Given the description of an element on the screen output the (x, y) to click on. 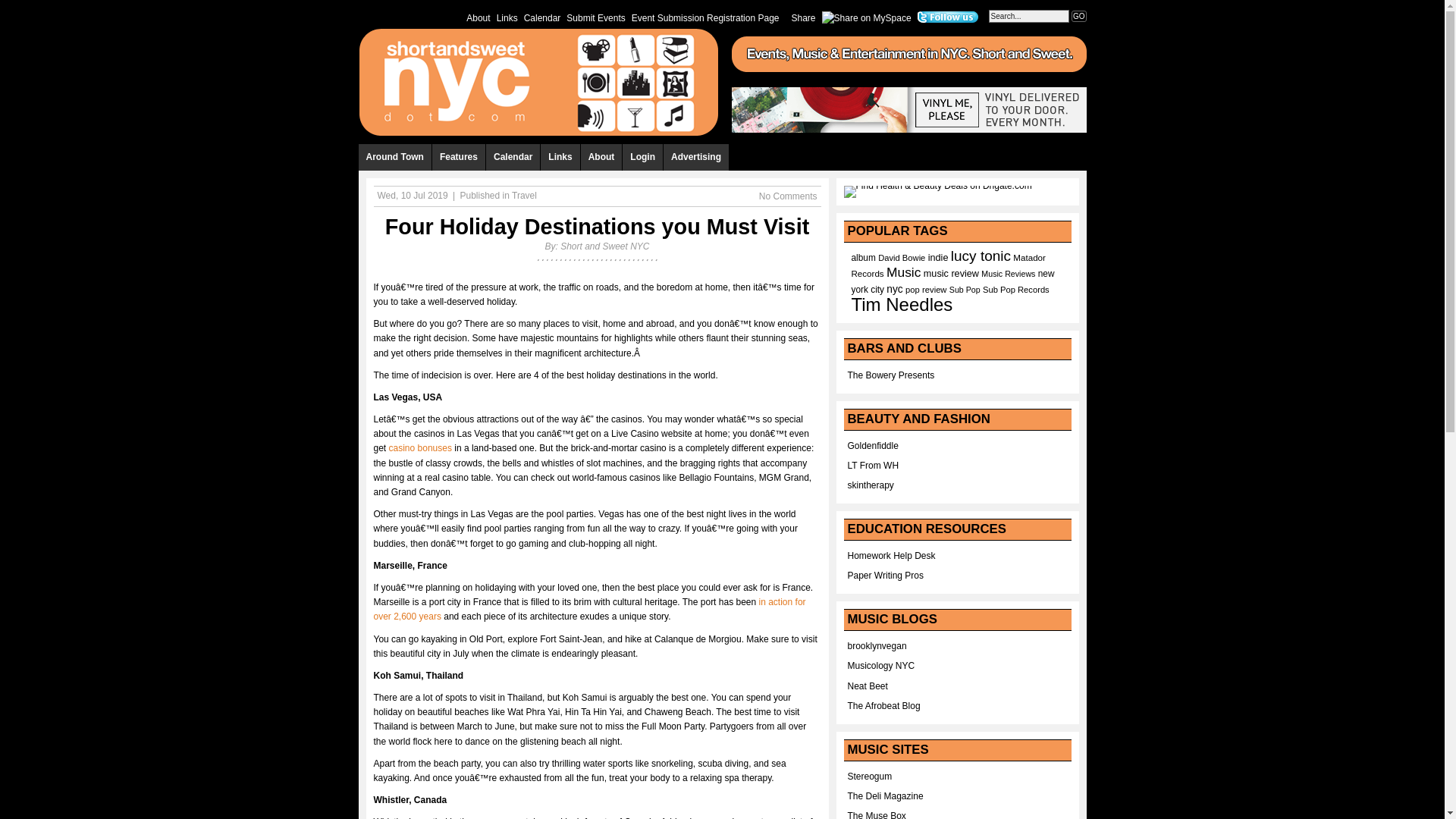
Search... (1028, 15)
GO (1078, 16)
Calendar (542, 17)
About (478, 17)
twitter-icon.com (947, 17)
Comment on Four Holiday Destinations you Must Visit (787, 195)
Event Submission Registration Page (705, 17)
Calendar (513, 157)
View all articles by Short and Sweet NYC (604, 245)
Share (803, 17)
GO (1078, 16)
Submit Events (595, 17)
Features (459, 157)
Around Town (394, 157)
Links (507, 17)
